Given the description of an element on the screen output the (x, y) to click on. 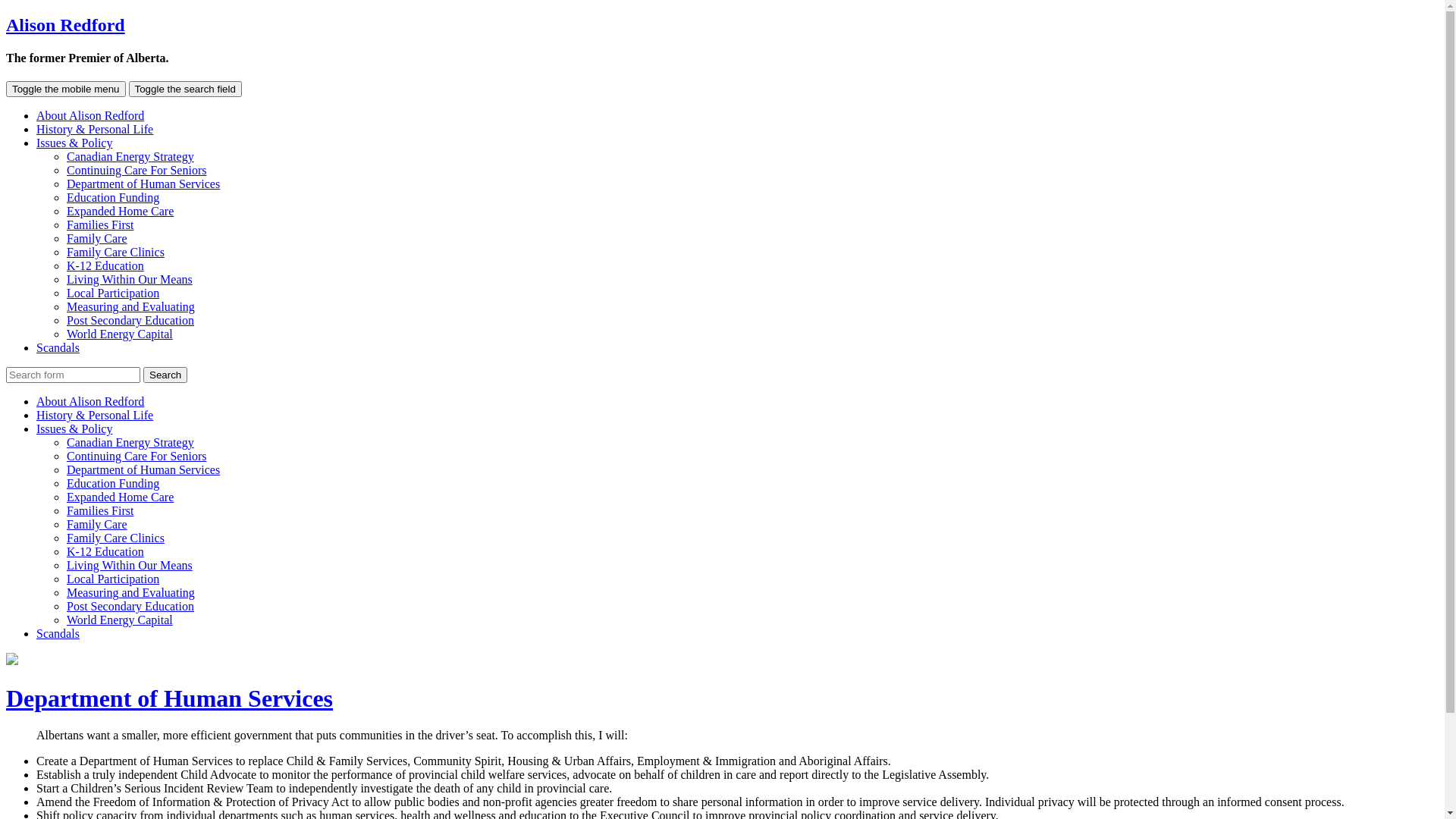
Families First Element type: text (99, 224)
Expanded Home Care Element type: text (119, 496)
Local Participation Element type: text (112, 292)
Toggle the mobile menu Element type: text (65, 89)
Education Funding Element type: text (112, 197)
History & Personal Life Element type: text (94, 128)
Living Within Our Means Element type: text (129, 279)
Post Secondary Education Element type: text (130, 605)
History & Personal Life Element type: text (94, 414)
Department of Human Services Element type: text (142, 183)
Living Within Our Means Element type: text (129, 564)
Issues & Policy Element type: text (74, 428)
Department of Human Services Element type: text (142, 469)
Family Care Element type: text (96, 238)
K-12 Education Element type: text (105, 551)
World Energy Capital Element type: text (119, 619)
Measuring and Evaluating Element type: text (130, 306)
Family Care Element type: text (96, 523)
Department of Human Services Element type: text (169, 698)
Search Element type: text (165, 374)
Alison Redford Element type: text (65, 24)
Family Care Clinics Element type: text (115, 251)
Expanded Home Care Element type: text (119, 210)
Canadian Energy Strategy Element type: text (130, 442)
About Alison Redford Element type: text (90, 401)
Family Care Clinics Element type: text (115, 537)
Education Funding Element type: text (112, 482)
Issues & Policy Element type: text (74, 142)
Continuing Care For Seniors Element type: text (136, 455)
K-12 Education Element type: text (105, 265)
Post Secondary Education Element type: text (130, 319)
Toggle the search field Element type: text (184, 89)
Measuring and Evaluating Element type: text (130, 592)
Scandals Element type: text (57, 633)
World Energy Capital Element type: text (119, 333)
Local Participation Element type: text (112, 578)
Canadian Energy Strategy Element type: text (130, 156)
About Alison Redford Element type: text (90, 115)
Families First Element type: text (99, 510)
Scandals Element type: text (57, 347)
Continuing Care For Seniors Element type: text (136, 169)
